Given the description of an element on the screen output the (x, y) to click on. 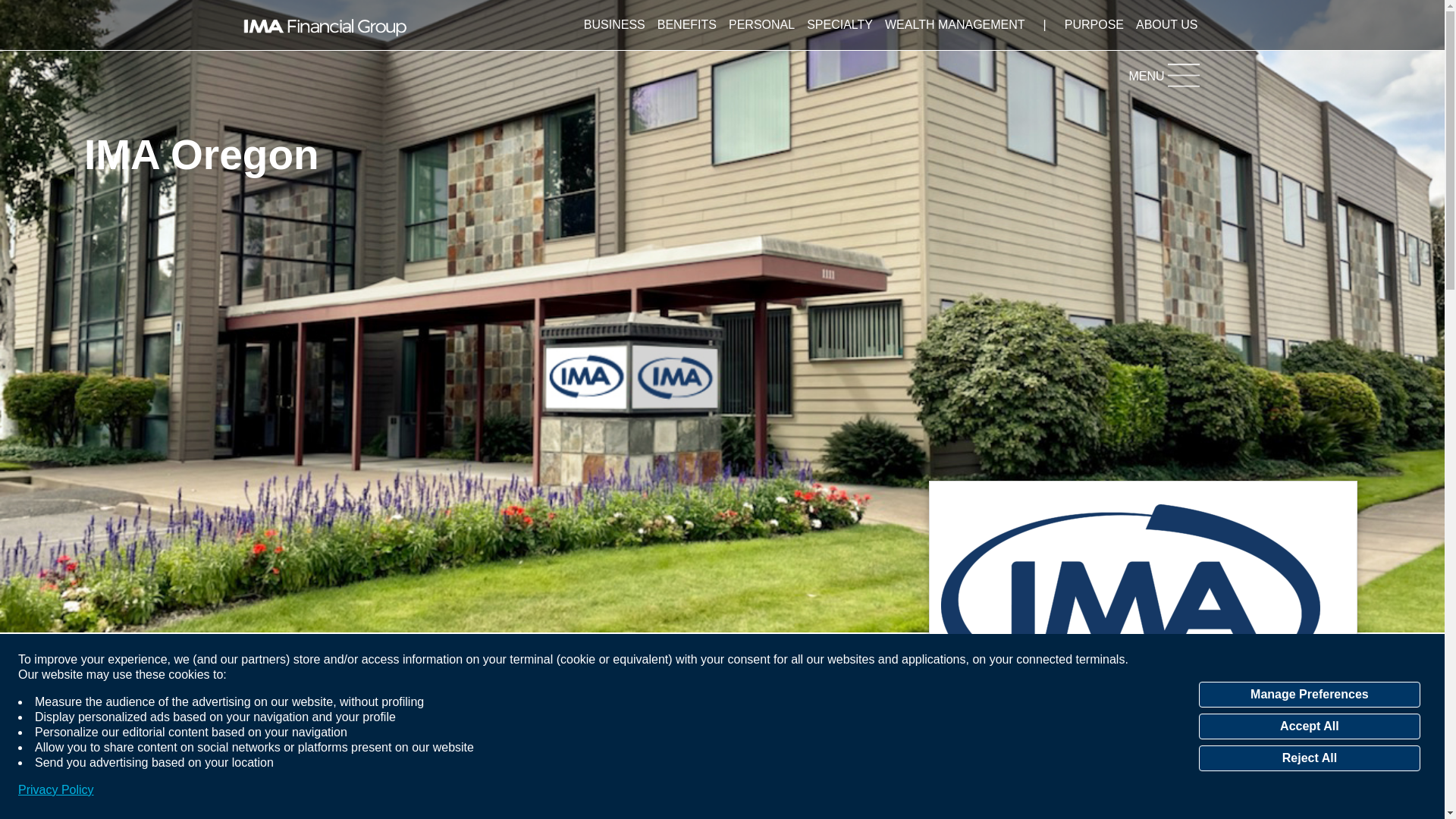
Business (614, 24)
BENEFITS (686, 24)
Manage Preferences (1309, 694)
PERSONAL (761, 24)
BUSINESS (614, 24)
SPECIALTY (839, 24)
Purpose (1093, 24)
Wealth Management (954, 24)
IMA Financial Group (324, 24)
About IMA Financial Group (1166, 24)
